Given the description of an element on the screen output the (x, y) to click on. 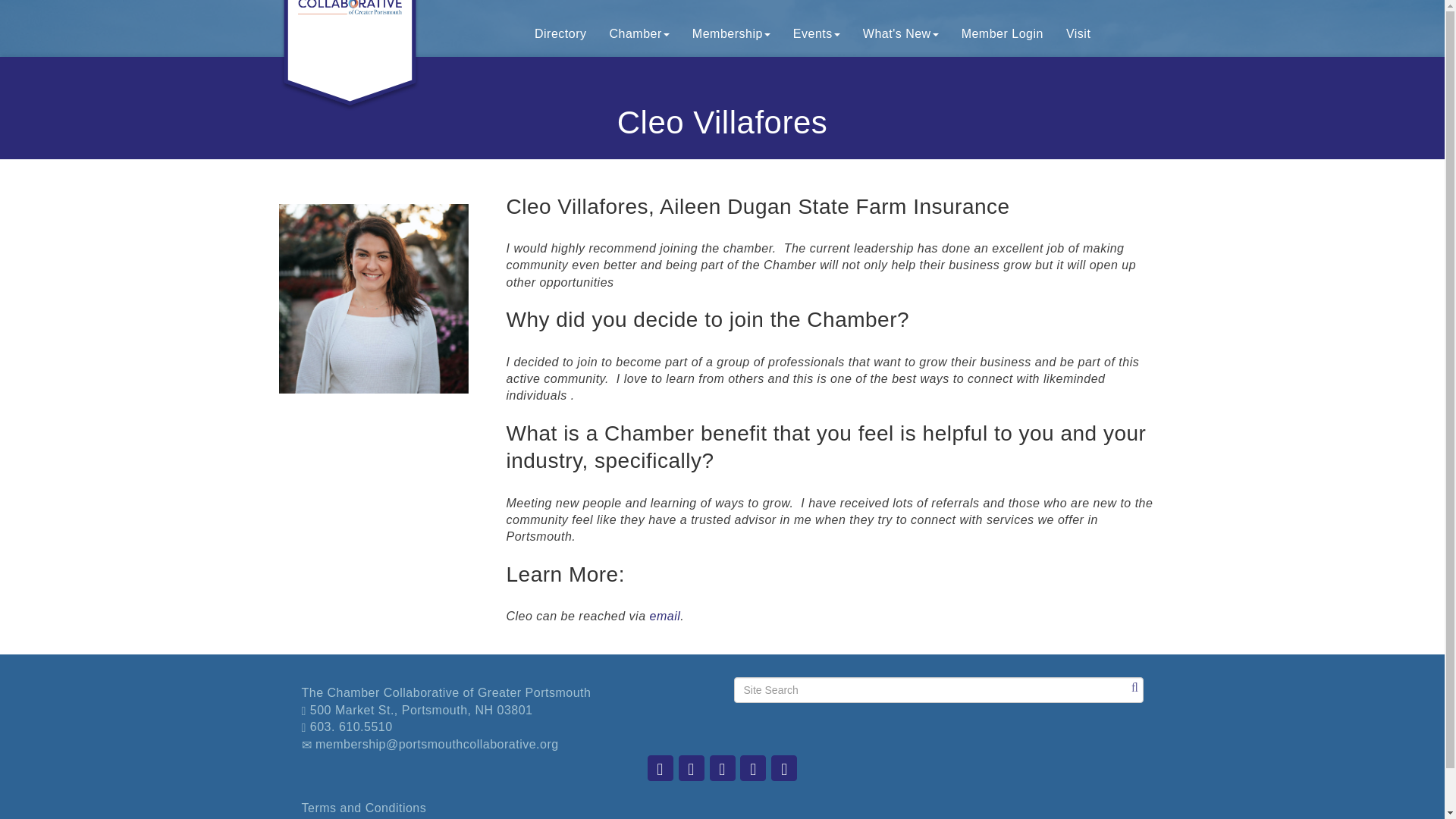
Icon Link (722, 768)
Events (816, 34)
Icon Link (752, 768)
Directory (560, 34)
Chamber (639, 34)
Icon Link (659, 768)
Membership (731, 34)
Icon Link (783, 768)
What's New (900, 34)
Icon Link (691, 768)
